Given the description of an element on the screen output the (x, y) to click on. 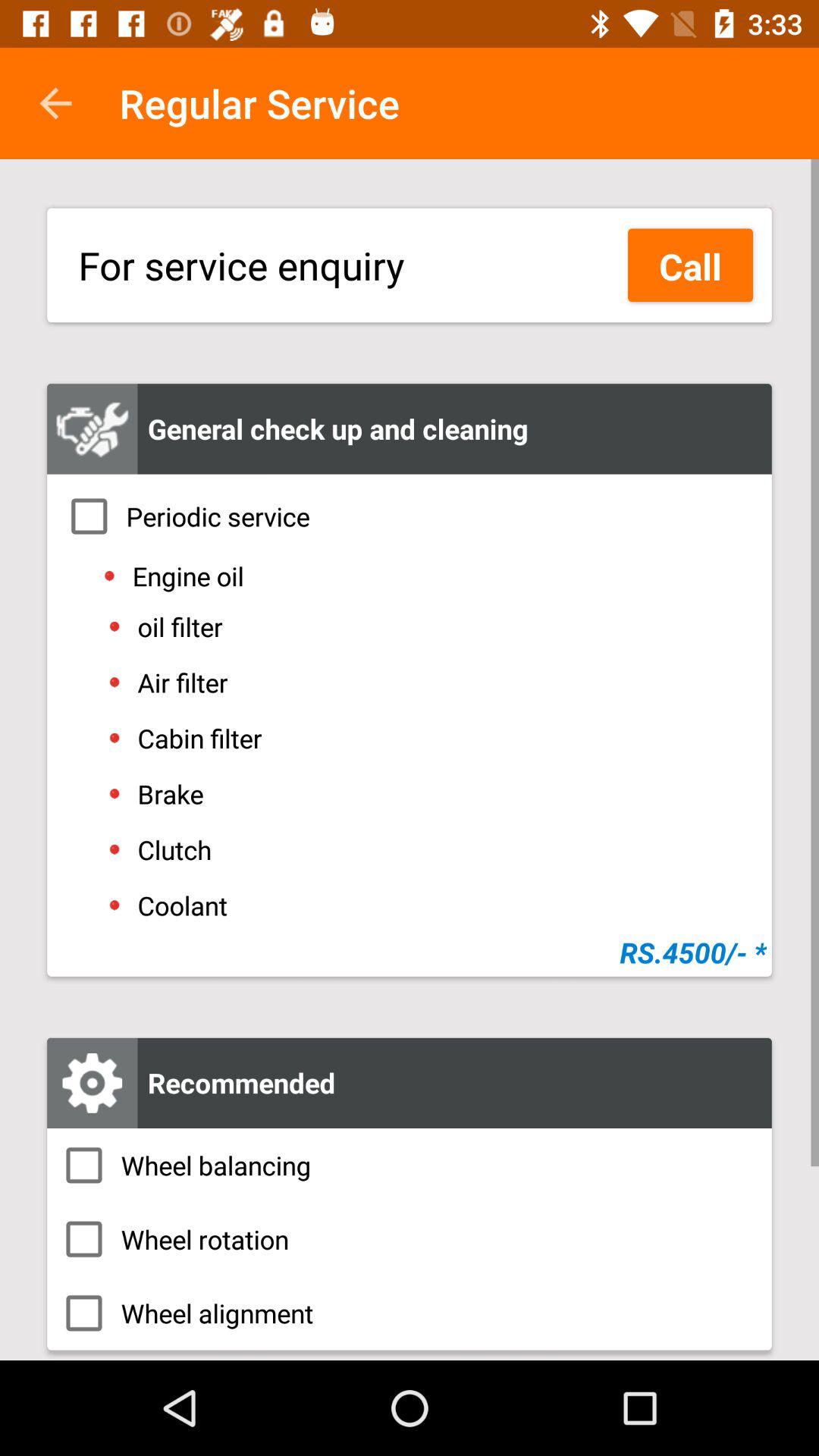
choose the item above the for service enquiry (55, 103)
